Given the description of an element on the screen output the (x, y) to click on. 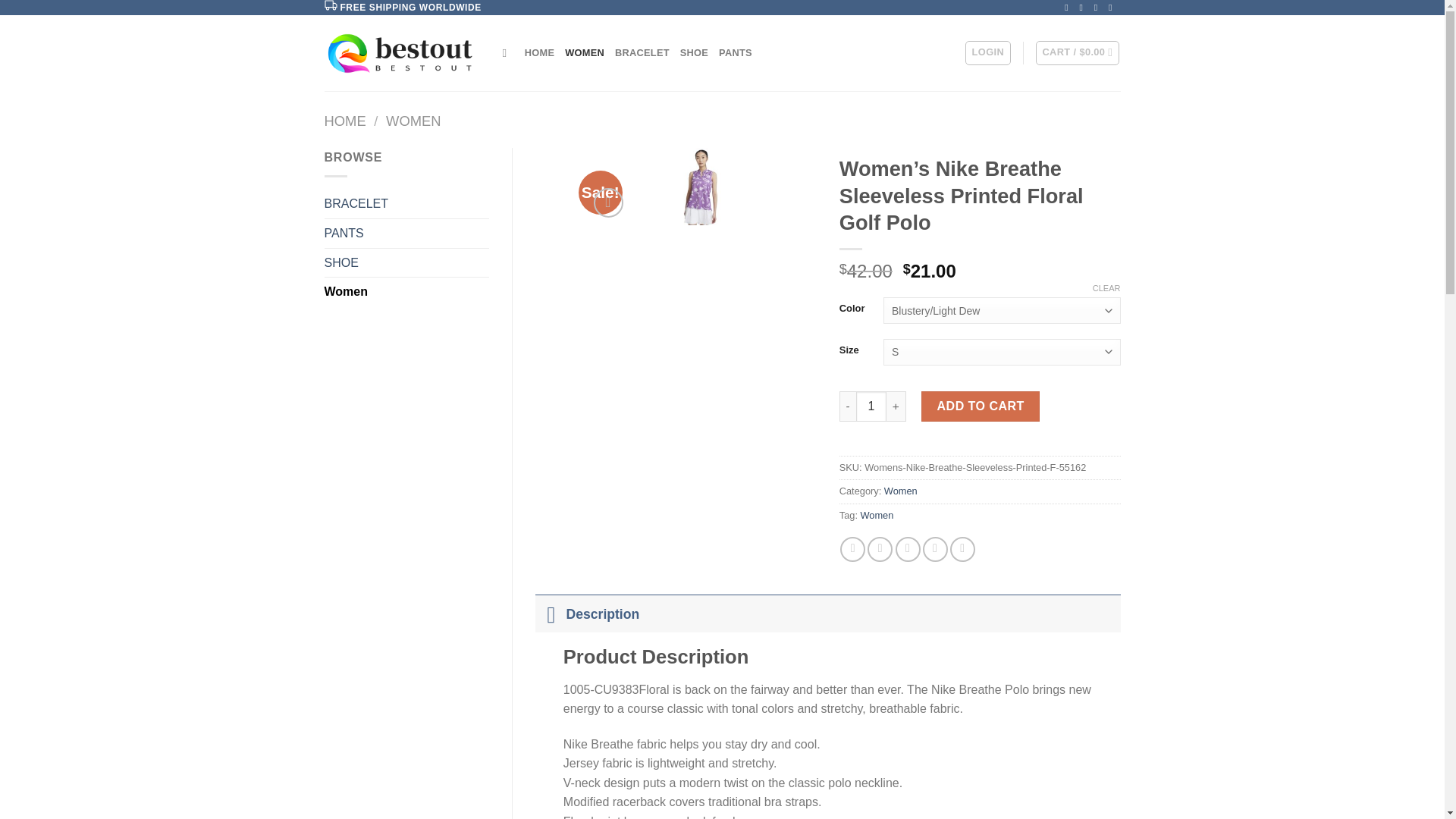
Women (876, 514)
WOMEN (413, 120)
ADD TO CART (980, 406)
BRACELET (641, 52)
Share on Facebook (852, 549)
1 (871, 406)
SHOE (693, 52)
PANTS (735, 52)
SHOE (406, 262)
1005-CU9383.jpg (700, 186)
